Given the description of an element on the screen output the (x, y) to click on. 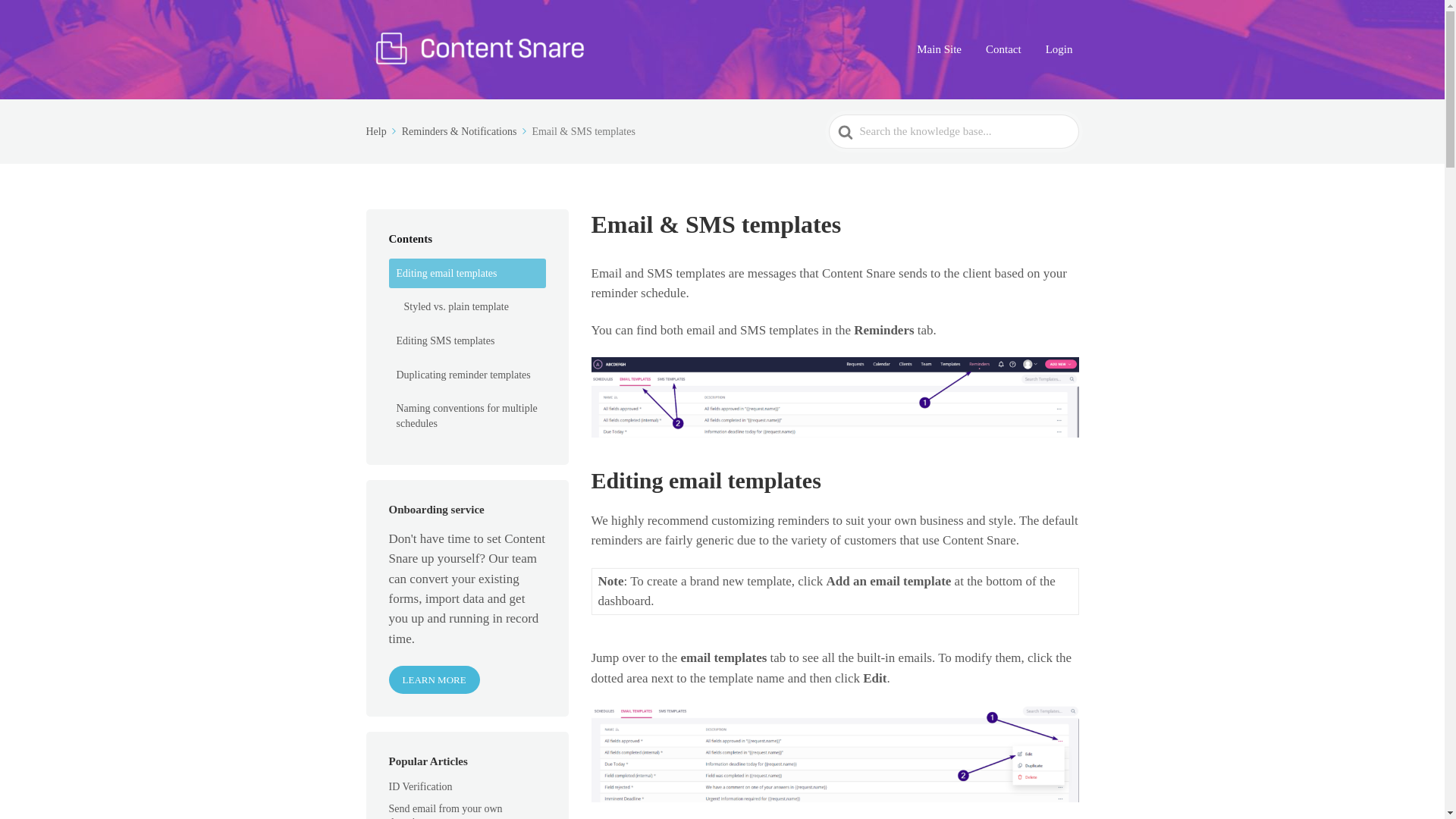
Contact (1003, 49)
Editing email templates (466, 273)
Editing SMS templates (466, 340)
Main Site (939, 49)
Send email from your own domain (445, 811)
Login (1058, 49)
Styled vs. plain template (470, 306)
Naming conventions for multiple schedules (466, 415)
Duplicating reminder templates (466, 375)
ID Verification (429, 786)
